Given the description of an element on the screen output the (x, y) to click on. 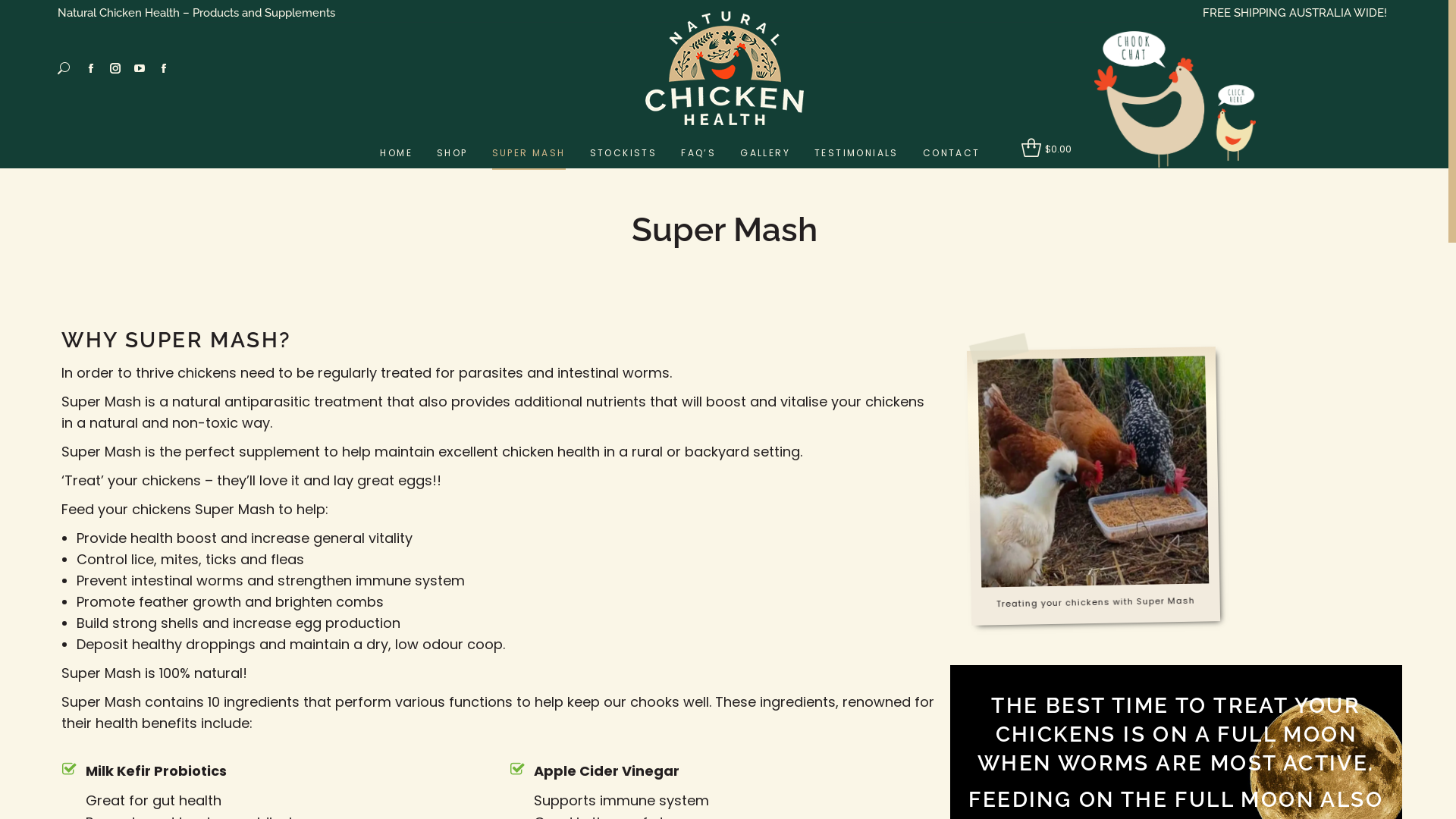
SUPER MASH Element type: text (528, 153)
$0.00 Element type: text (1046, 148)
Facebook page opens in new window Element type: text (163, 68)
YouTube page opens in new window Element type: text (139, 68)
HOME Element type: text (395, 153)
TESTIMONIALS Element type: text (856, 153)
STOCKISTS Element type: text (623, 153)
GALLERY Element type: text (765, 153)
Facebook page opens in new window Element type: text (90, 68)
SHOP Element type: text (451, 153)
Instagram page opens in new window Element type: text (115, 68)
CONTACT Element type: text (951, 153)
Go! Element type: text (26, 15)
